Given the description of an element on the screen output the (x, y) to click on. 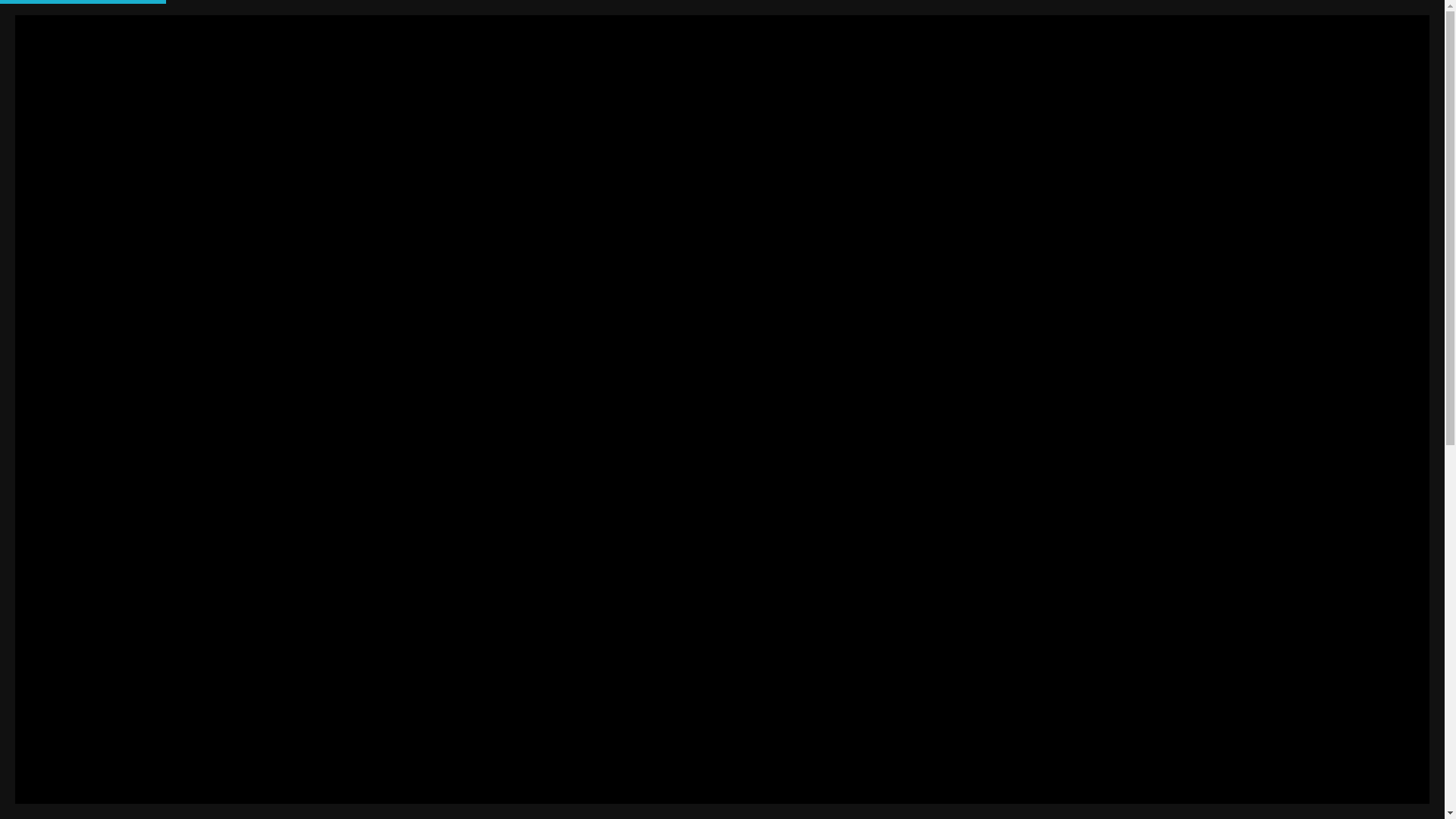
Search (384, 768)
